Given the description of an element on the screen output the (x, y) to click on. 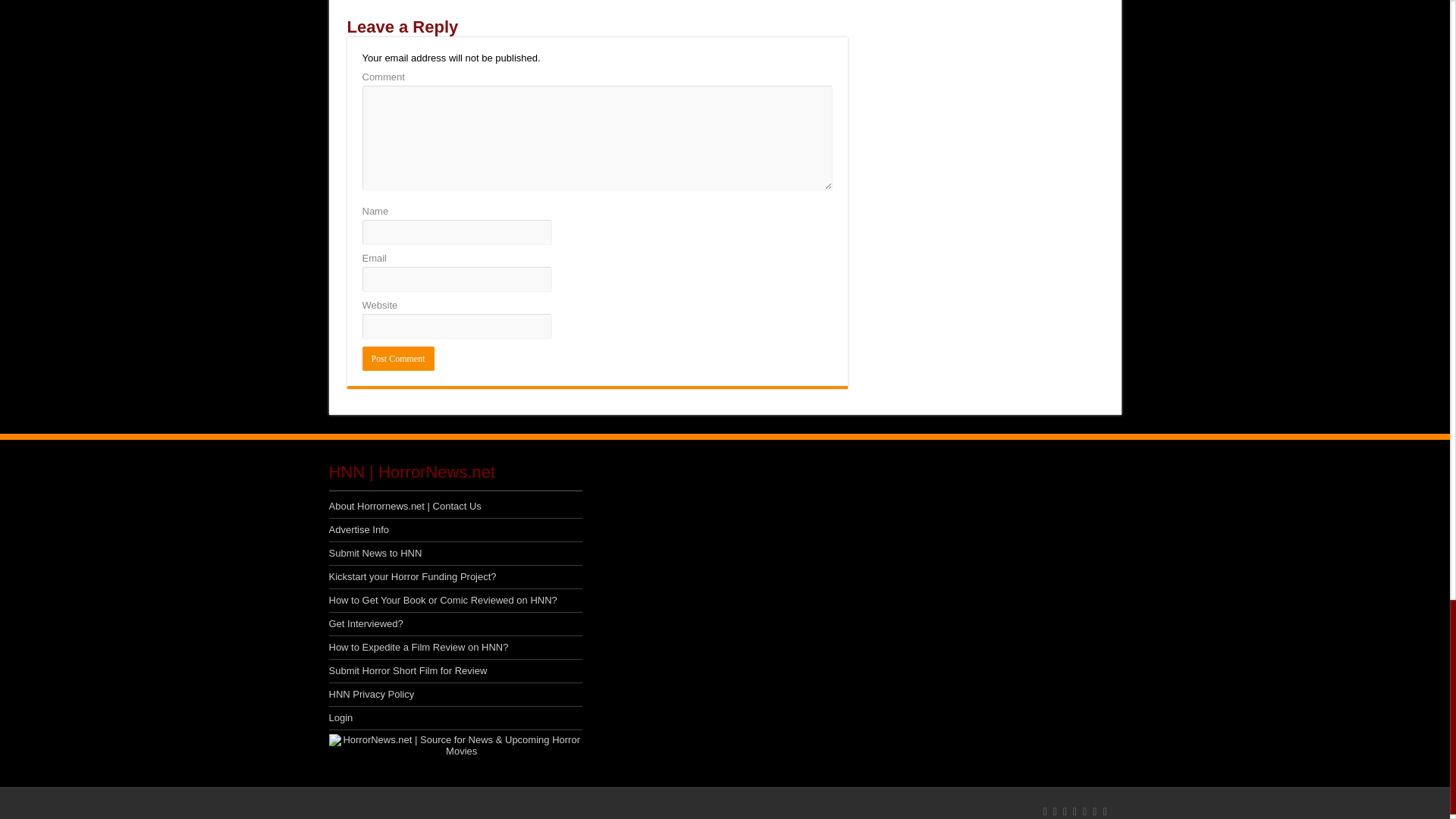
Post Comment (397, 358)
